Given the description of an element on the screen output the (x, y) to click on. 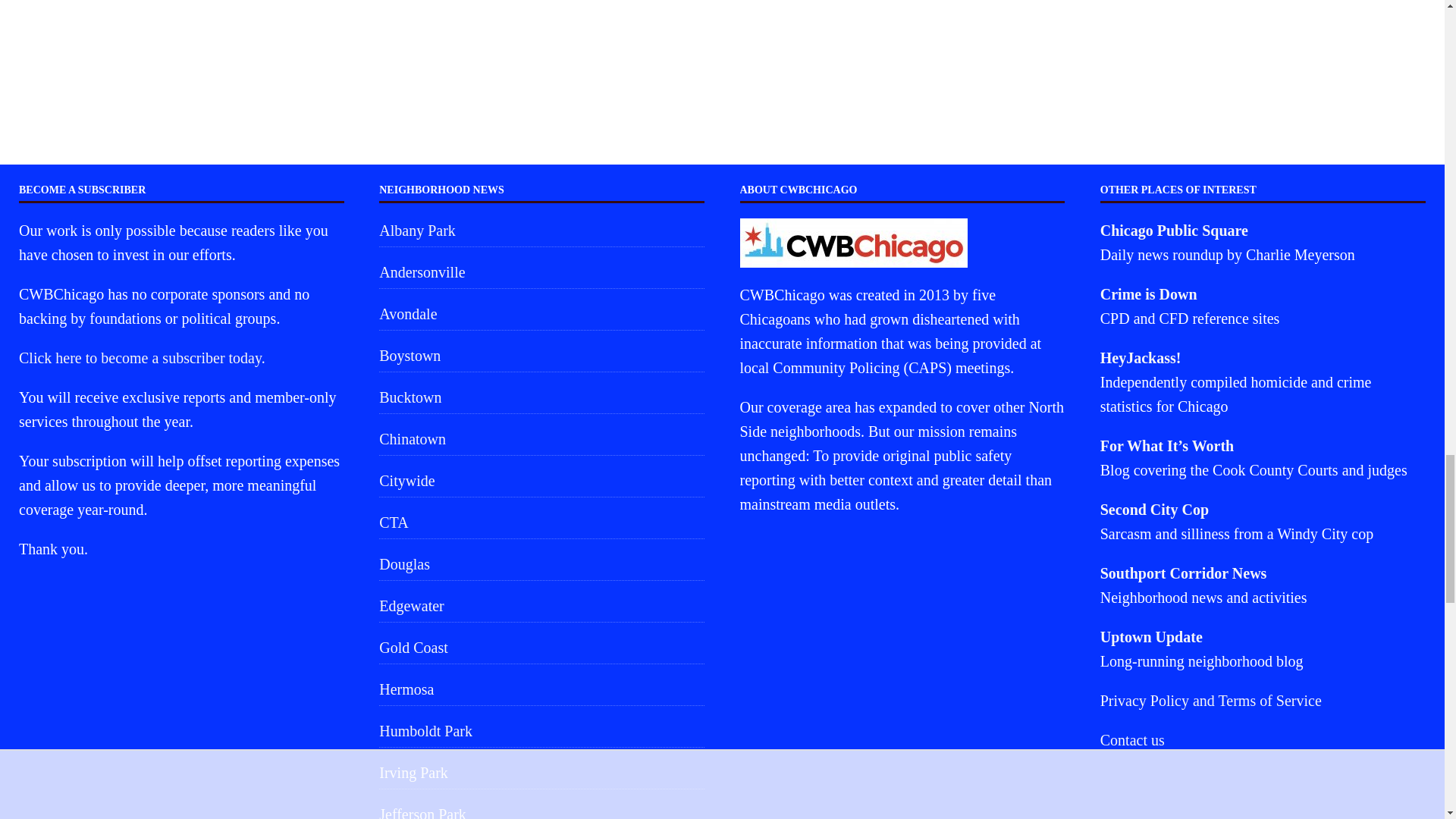
Click here to become a subscriber today. (141, 357)
Albany Park (541, 232)
Boystown (541, 355)
Andersonville (541, 272)
Avondale (541, 314)
Bucktown (541, 397)
